Given the description of an element on the screen output the (x, y) to click on. 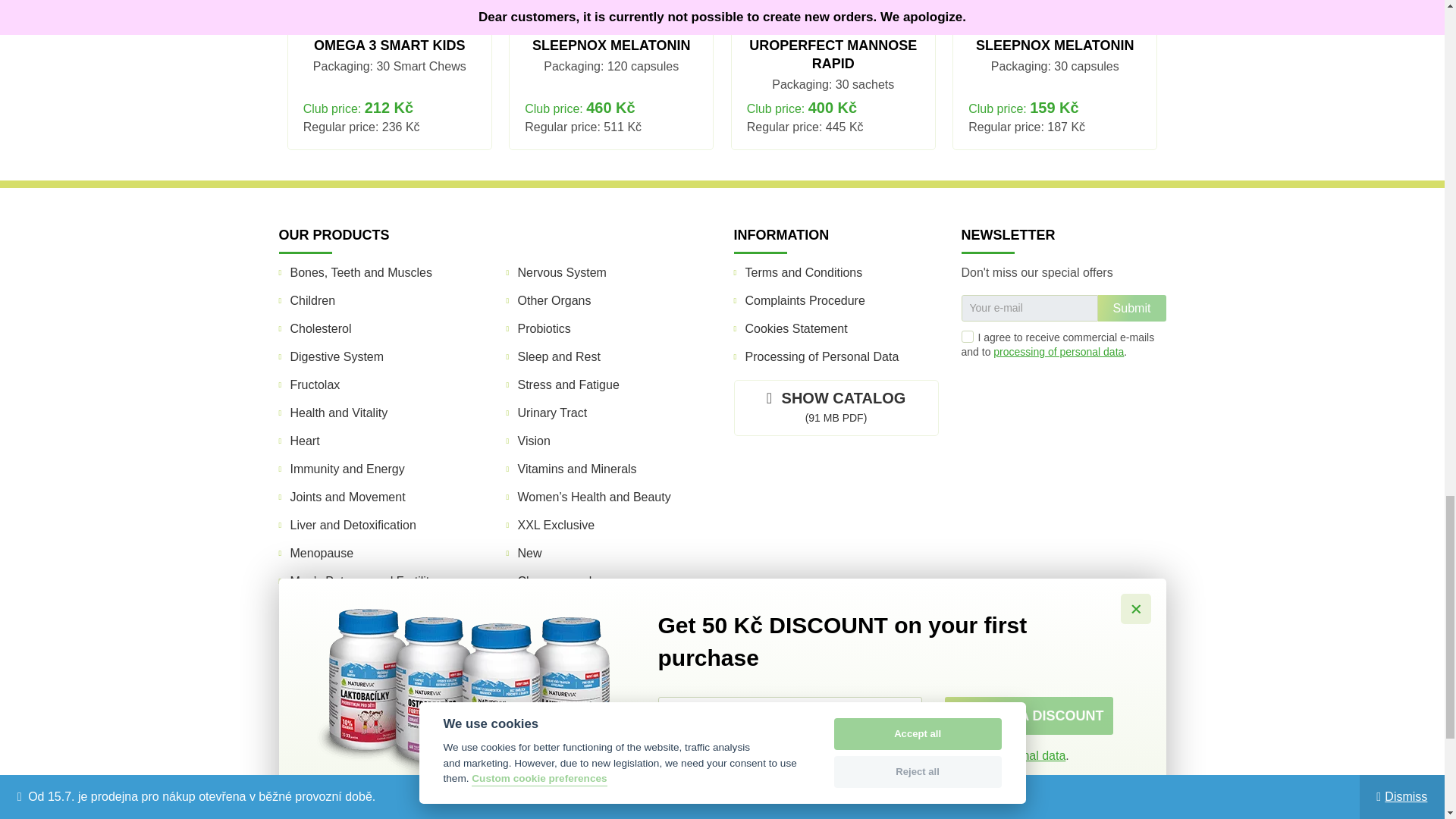
1 (967, 337)
Show catalog (836, 407)
Naturevia on Facebook (1047, 454)
